Given the description of an element on the screen output the (x, y) to click on. 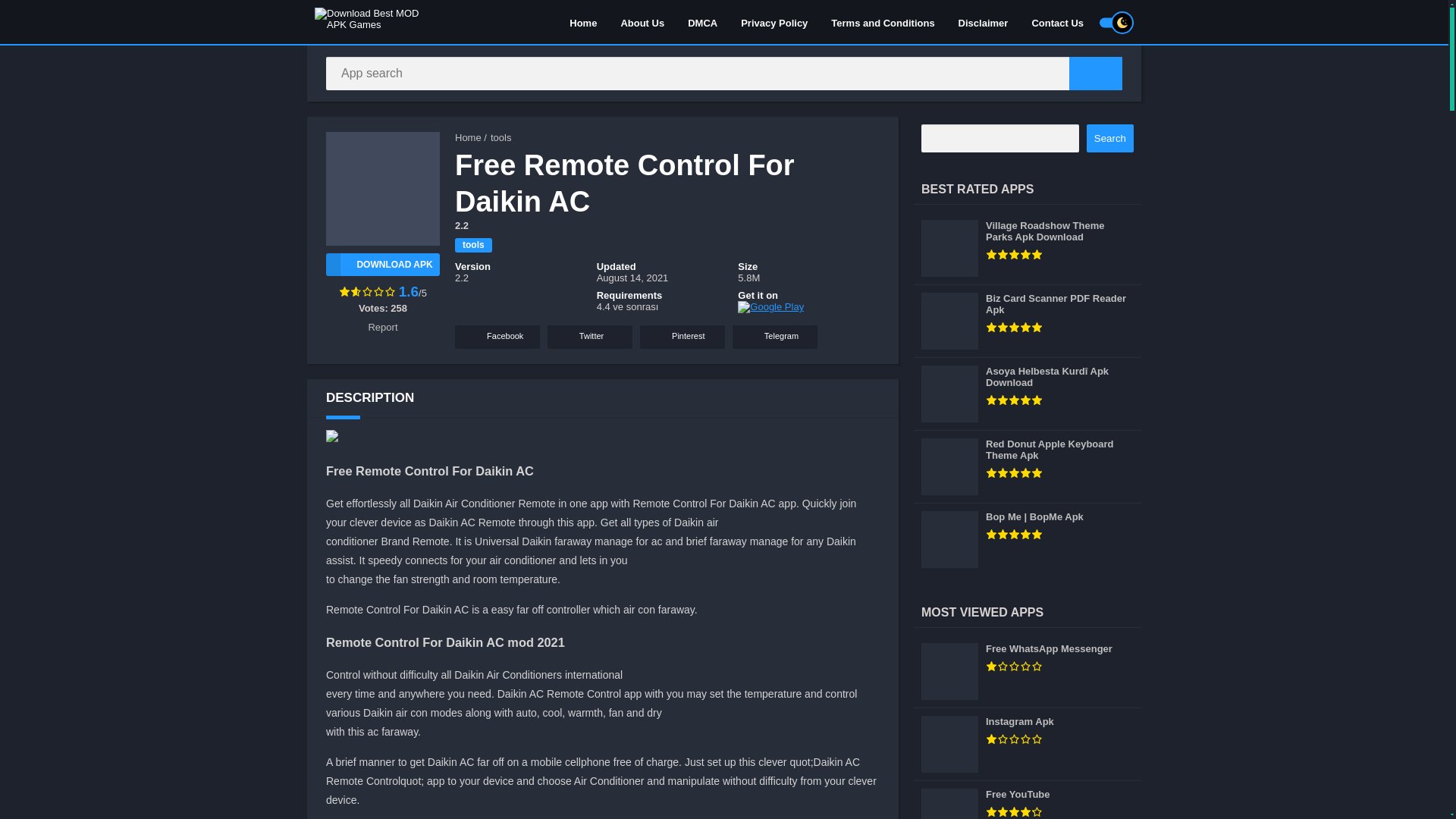
Telegram (774, 336)
Privacy Policy (773, 22)
Pinterest (682, 336)
DOWNLOAD APK (382, 264)
Download Best MOD APK Games (467, 137)
Home (467, 137)
tools (473, 245)
Report (382, 326)
Home (582, 22)
Facebook (497, 336)
Twitter (589, 336)
Disclaimer (983, 22)
About Us (641, 22)
tools (500, 137)
Download APK (382, 264)
